Given the description of an element on the screen output the (x, y) to click on. 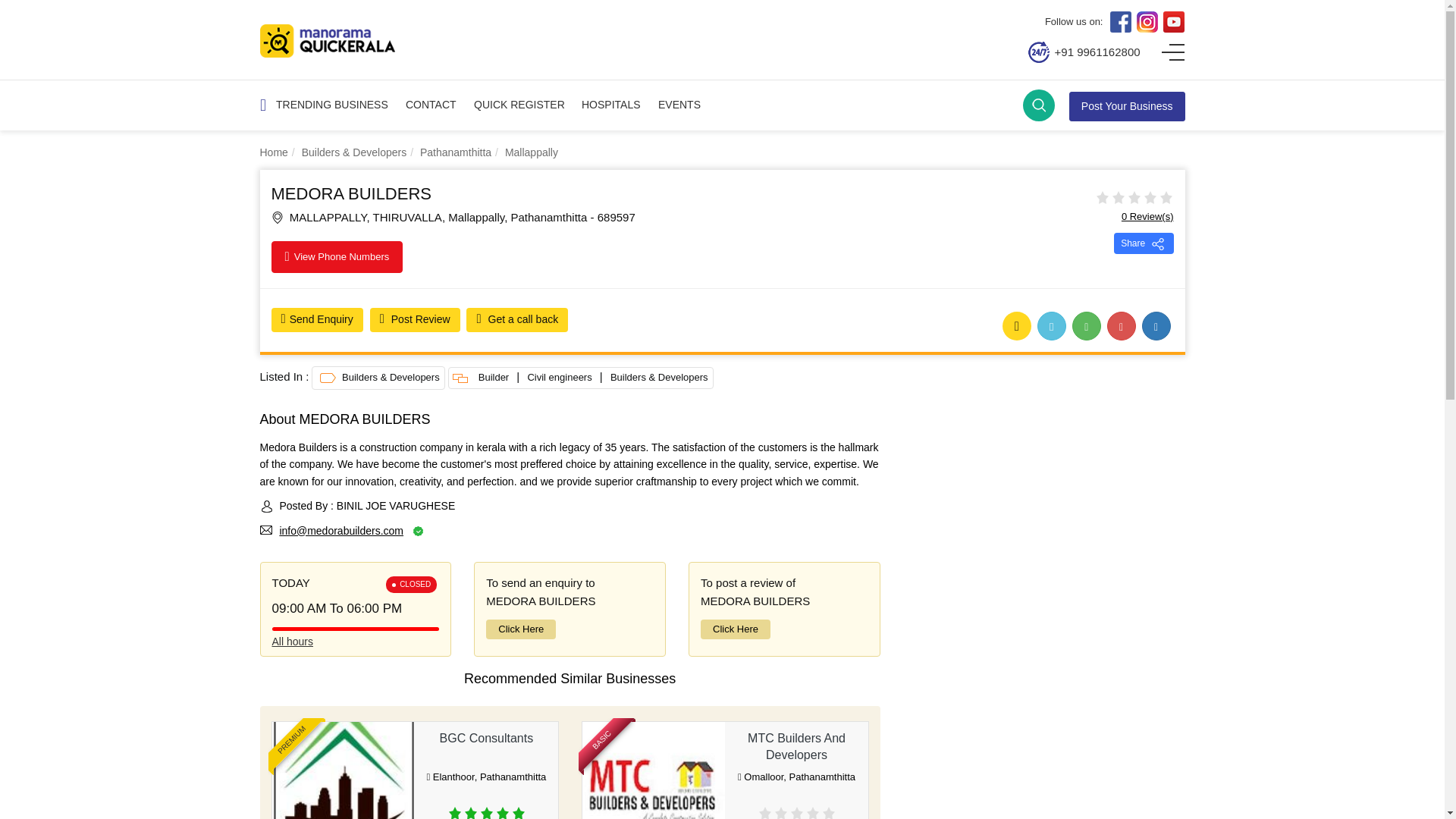
Manorama Quickerala - Kerala's Own Search Engine (326, 41)
TRENDING BUSINESS (332, 105)
Facebook (1120, 21)
Post Your Business (1126, 105)
HOSPITALS (610, 105)
CONTACT (431, 105)
Youtube (1174, 21)
EVENTS (679, 105)
Instagram (1147, 21)
Home (272, 152)
QUICK REGISTER (519, 105)
